Given the description of an element on the screen output the (x, y) to click on. 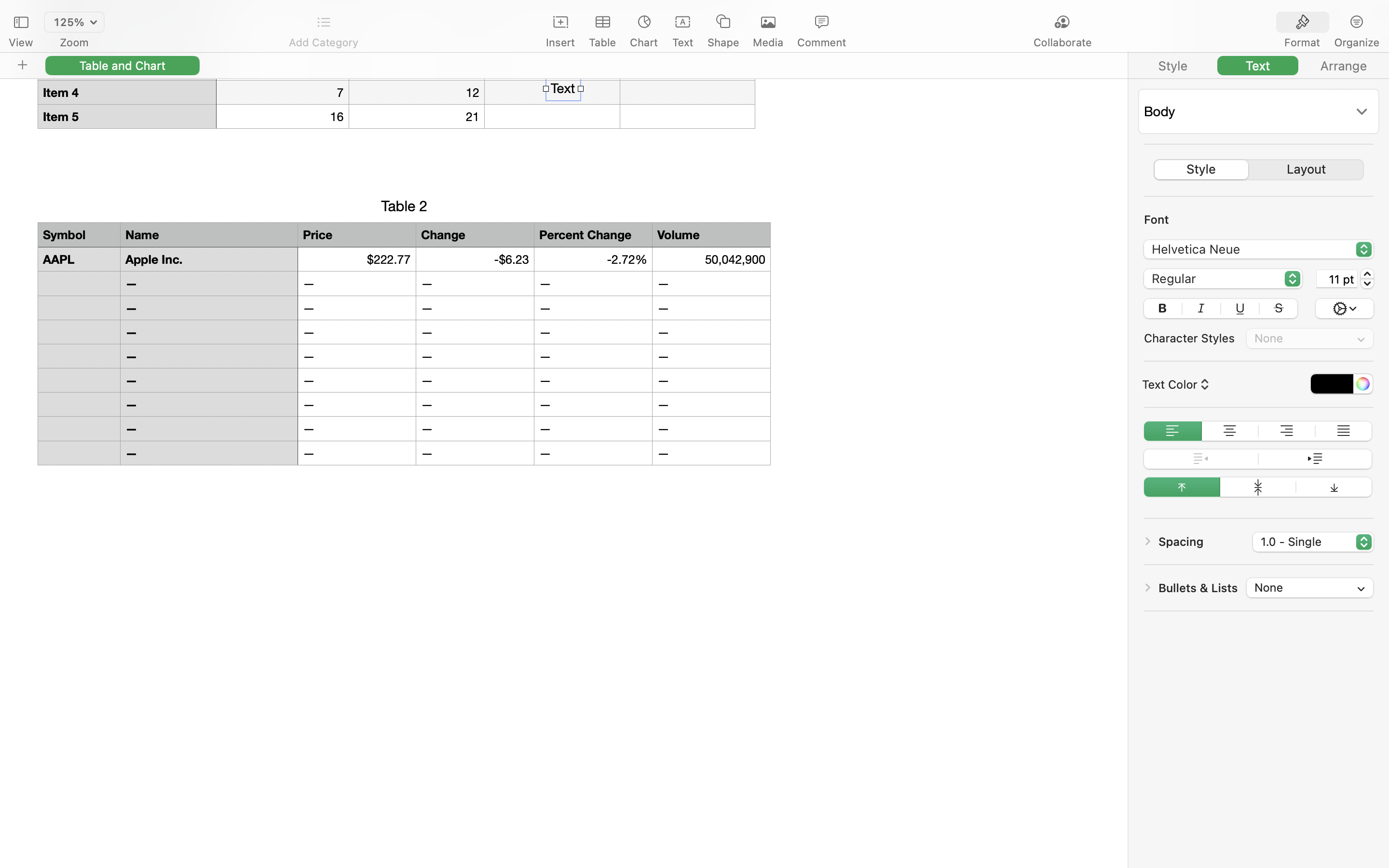
Insert Element type: AXStaticText (560, 42)
11 pt Element type: AXTextField (1336, 278)
1.0 - Single Element type: AXPopUpButton (1313, 543)
Text Color Element type: AXPopUpButton (1174, 384)
